Given the description of an element on the screen output the (x, y) to click on. 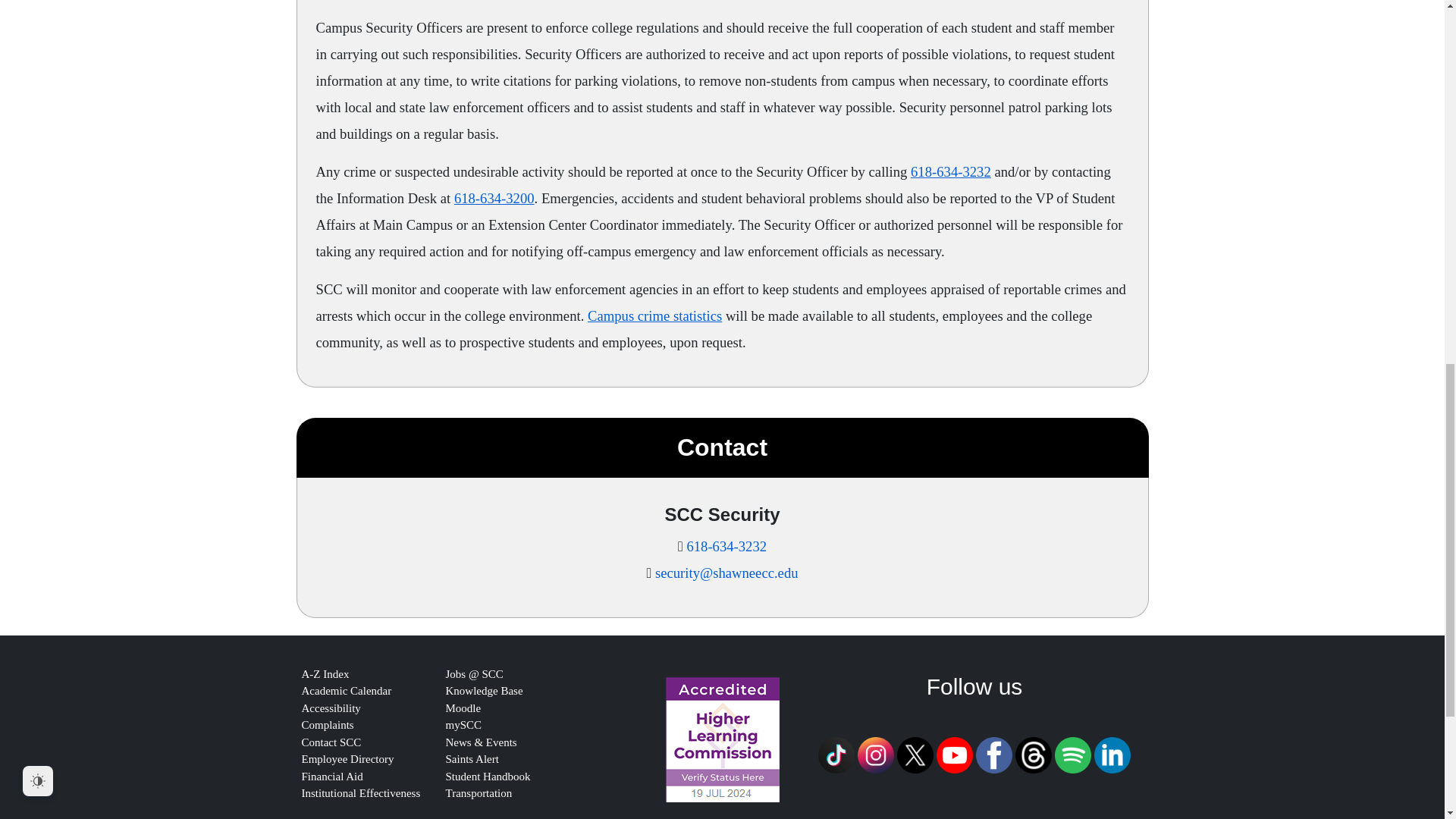
tiktok (836, 755)
facebook (993, 755)
tiktok (836, 753)
instagram (875, 755)
twitter (914, 755)
spotify (1072, 753)
youtube (954, 753)
twitter (914, 753)
threads (1032, 753)
youtube (954, 755)
instagram (875, 753)
threads (1032, 755)
facebook (993, 753)
Accredited Higher Learning (721, 740)
